Given the description of an element on the screen output the (x, y) to click on. 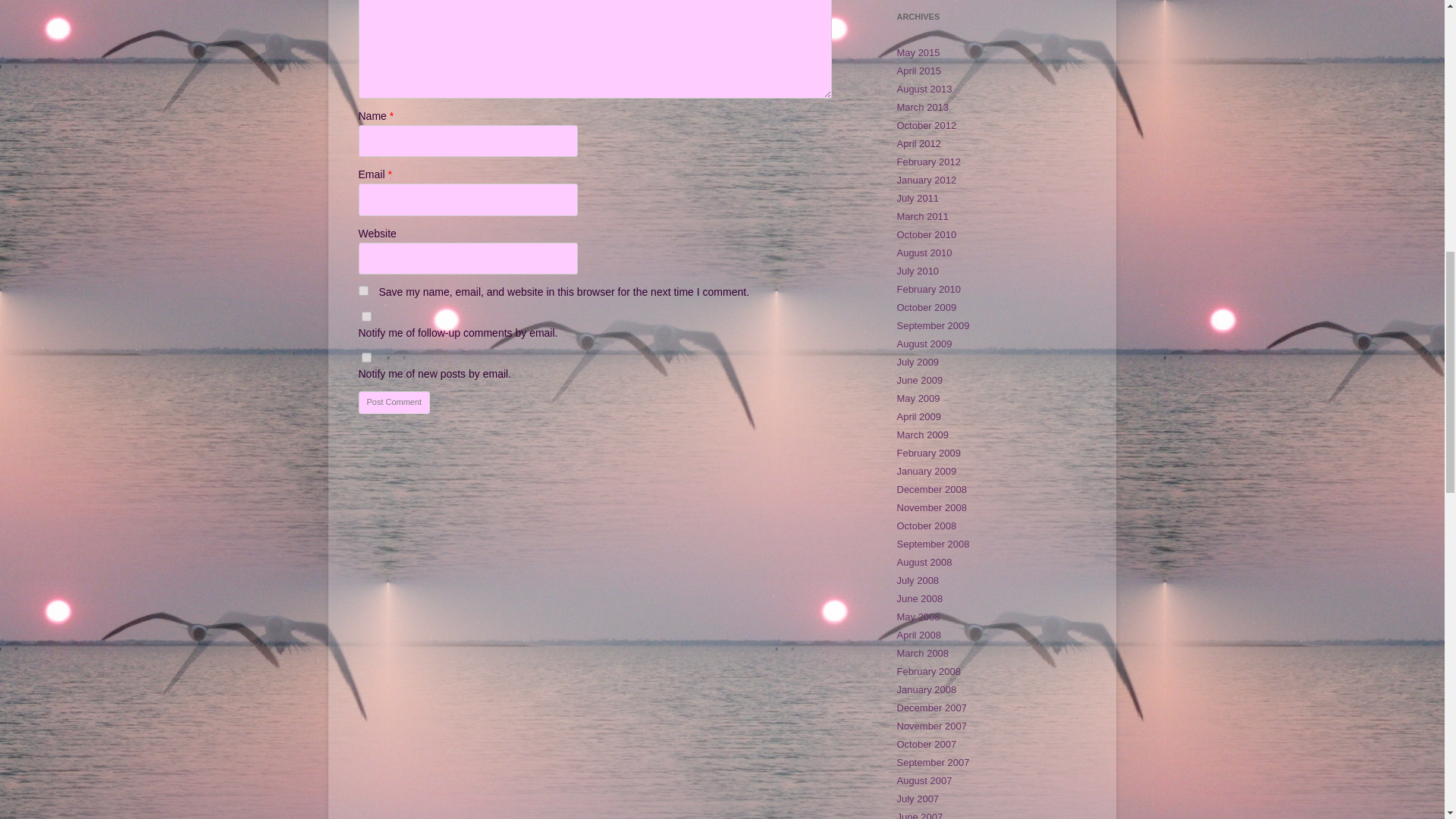
March 2013 (922, 107)
subscribe (366, 357)
October 2012 (926, 125)
May 2015 (917, 52)
February 2012 (927, 161)
Post Comment (393, 402)
yes (363, 290)
April 2012 (918, 143)
January 2012 (926, 179)
August 2013 (924, 89)
subscribe (366, 316)
April 2015 (918, 70)
Post Comment (393, 402)
